Given the description of an element on the screen output the (x, y) to click on. 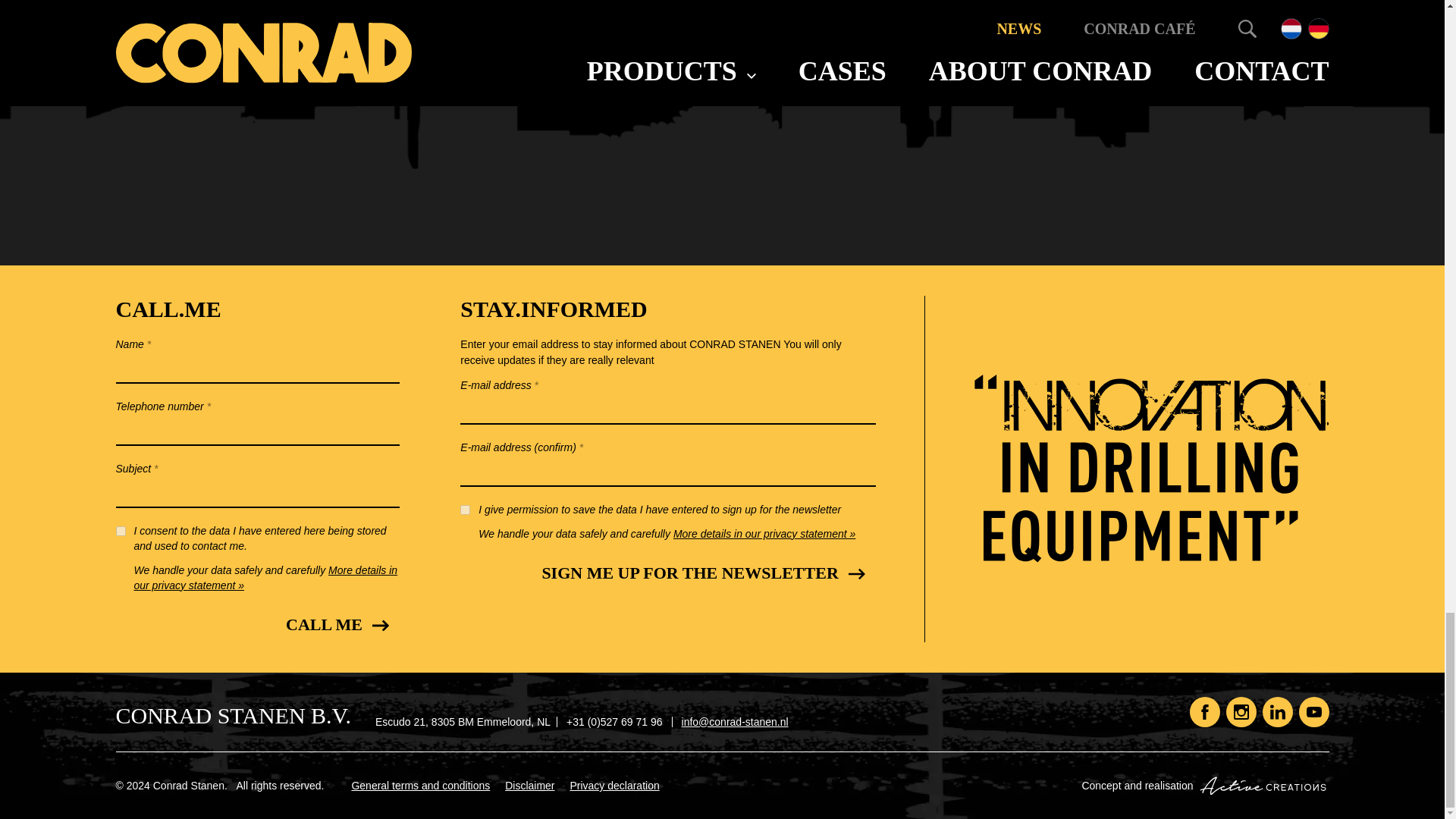
CALL ME (334, 625)
Disclaimer (529, 785)
SIGN ME UP FOR THE NEWSLETTER (701, 573)
on (120, 531)
General terms and conditions (420, 785)
on (465, 510)
RETURN TO OVERVIEW (428, 35)
